Given the description of an element on the screen output the (x, y) to click on. 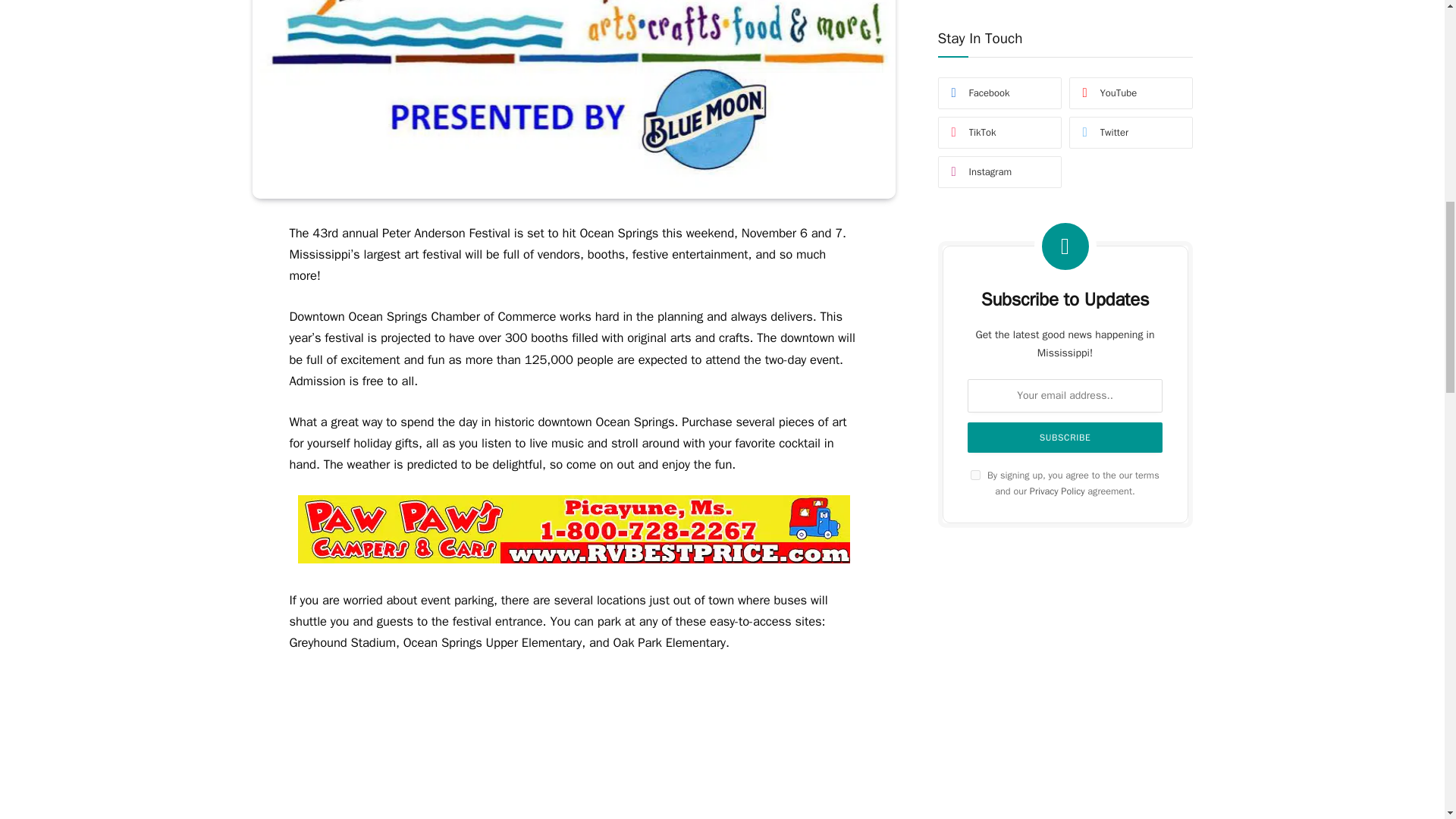
on (975, 257)
Subscribe (1064, 219)
